Given the description of an element on the screen output the (x, y) to click on. 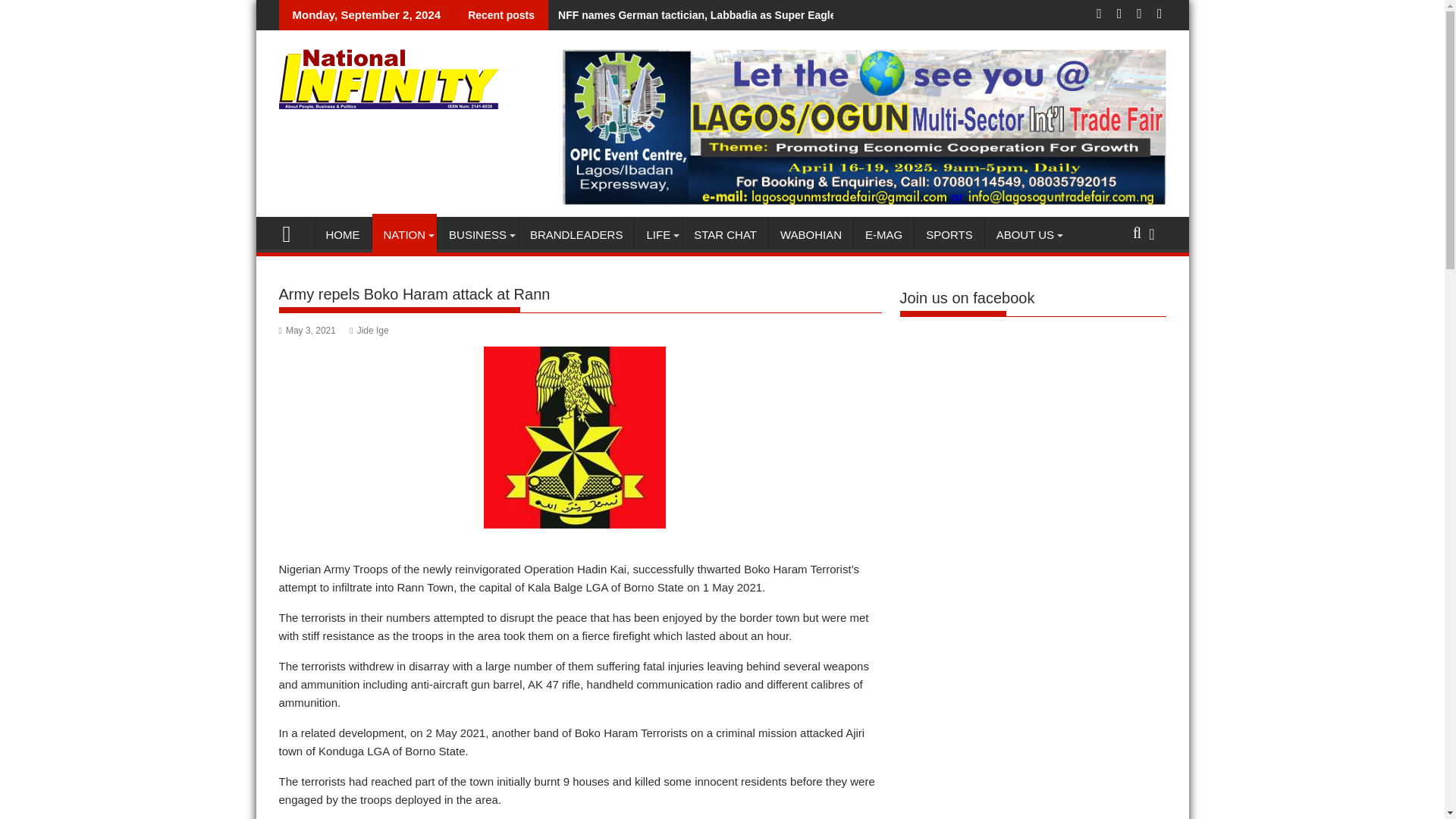
ABOUT US (1025, 235)
NATION (403, 235)
E-MAG (883, 235)
LIFE (657, 235)
NFF names German tactician, Labbadia as Super Eagles coach (712, 15)
WABOHIAN (810, 235)
HOME (342, 235)
STAR CHAT (725, 235)
NFF names German tactician, Labbadia as Super Eagles coach (712, 15)
